Given the description of an element on the screen output the (x, y) to click on. 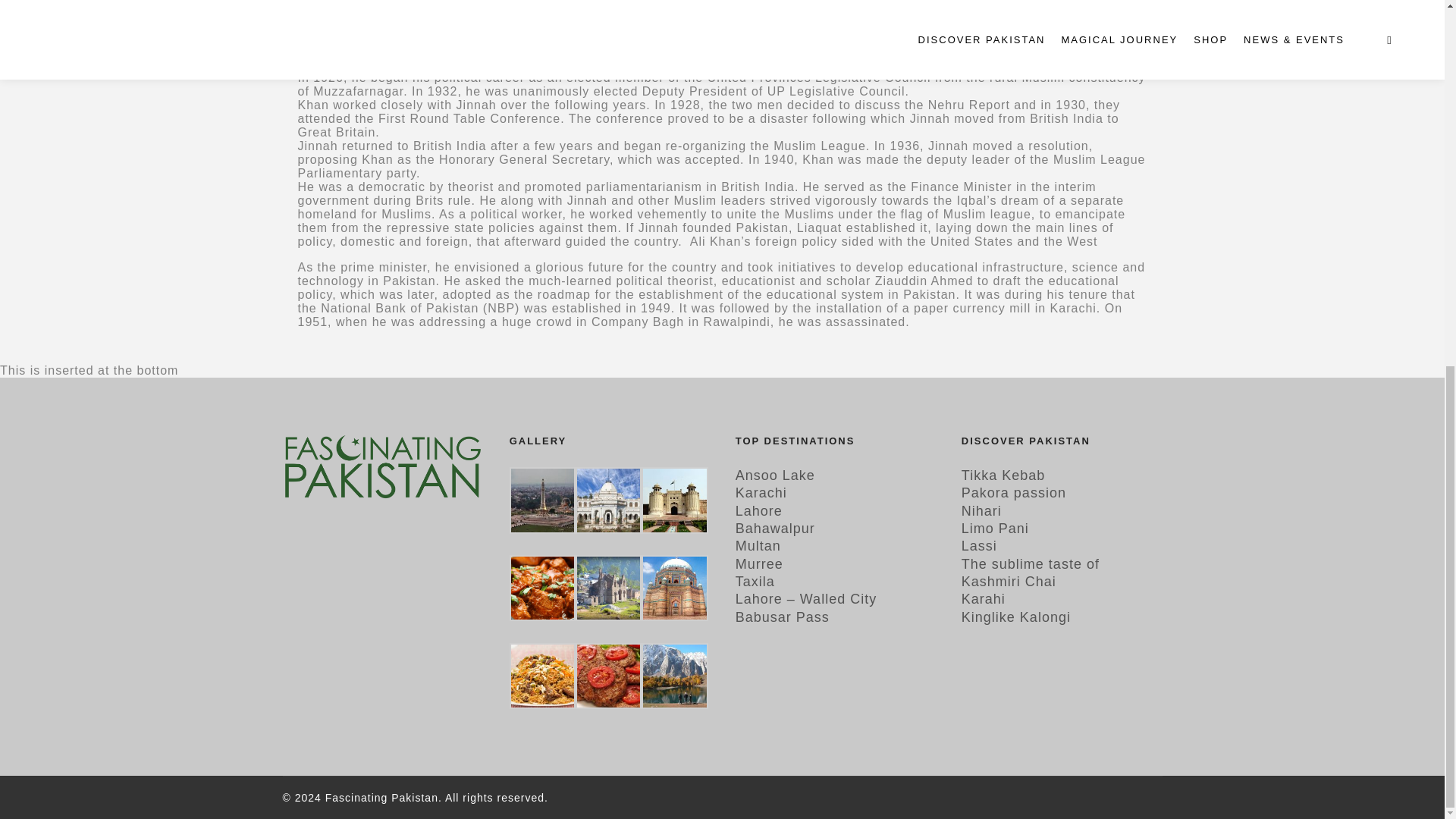
Nihari (980, 510)
Karachi (761, 492)
Ansoo Lake (775, 475)
Tikka Kebab (1002, 475)
Lassi (978, 545)
Pakora passion (1012, 492)
Karahi (983, 598)
Taxila (754, 581)
Multan (757, 545)
Murree (759, 563)
Babusar Pass (782, 616)
Kinglike Kalongi (1015, 616)
Lahore (759, 510)
Bahawalpur (775, 528)
The sublime taste of Kashmiri Chai (1029, 572)
